Given the description of an element on the screen output the (x, y) to click on. 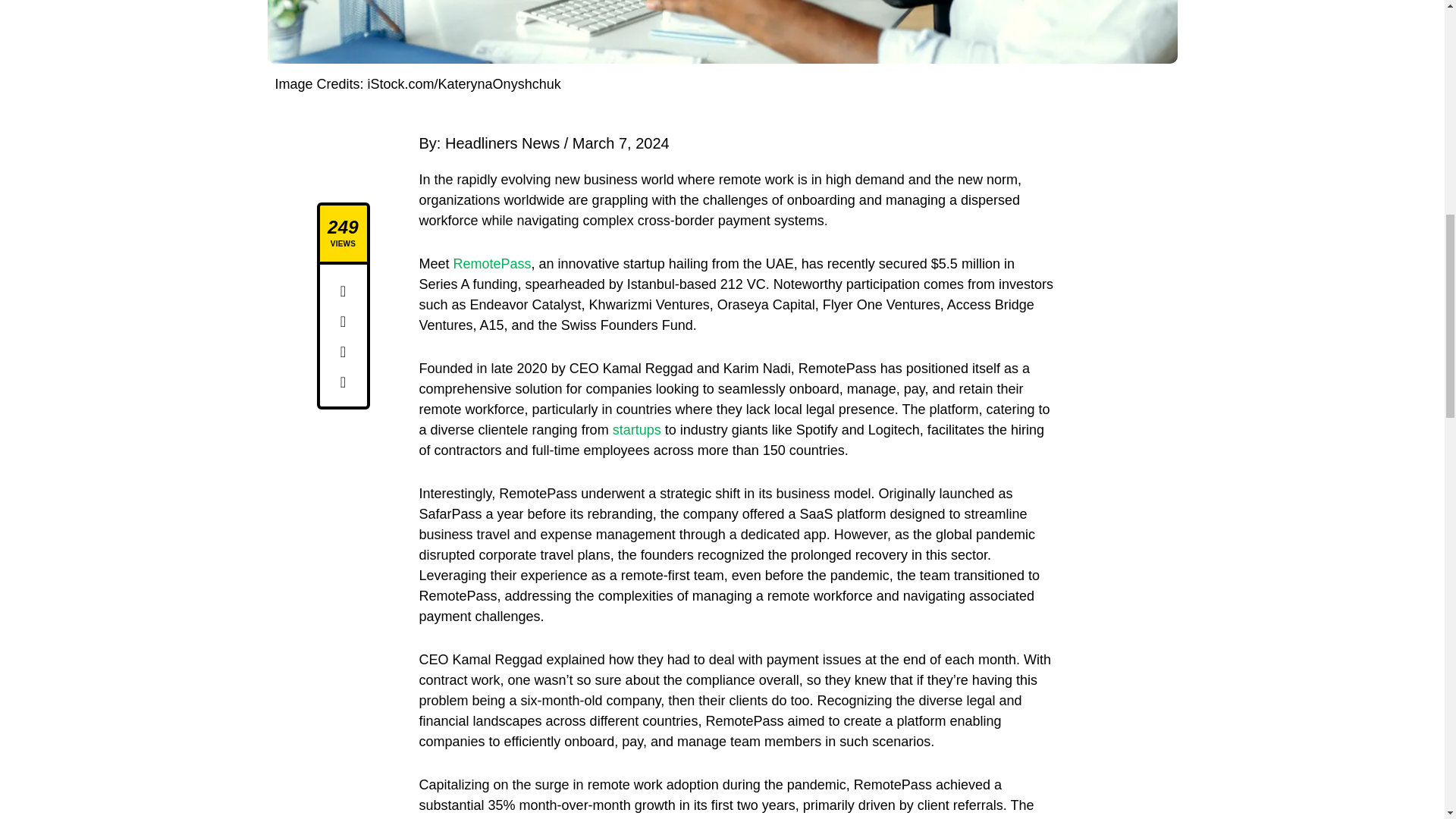
startups (636, 429)
249 (342, 227)
RemotePass (491, 263)
